Given the description of an element on the screen output the (x, y) to click on. 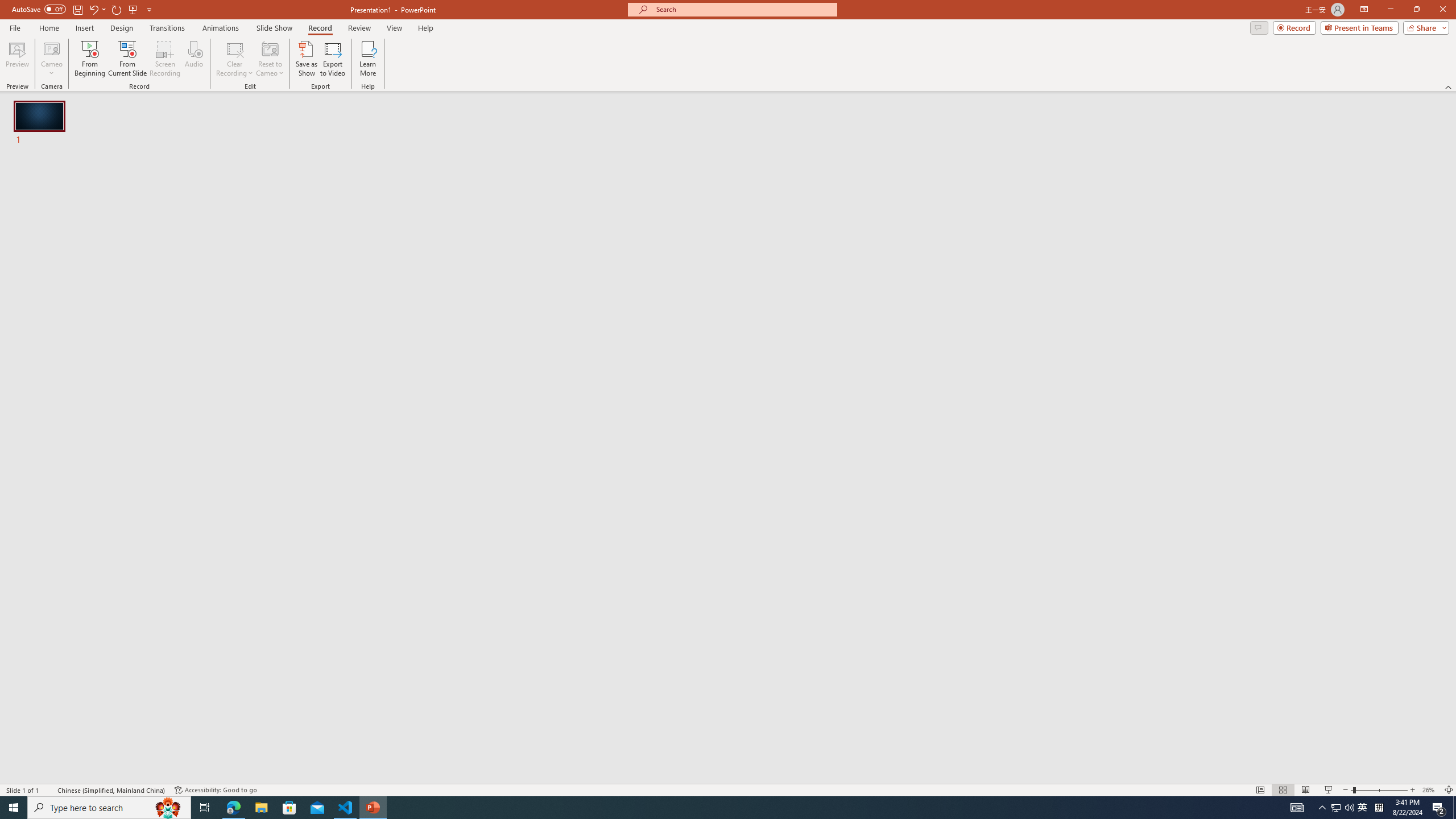
Zoom Out (1351, 790)
Preview (17, 58)
Design (122, 28)
Save as Show (306, 58)
Restore Down (1416, 9)
AutoSave (38, 9)
Reset to Cameo (269, 58)
